Given the description of an element on the screen output the (x, y) to click on. 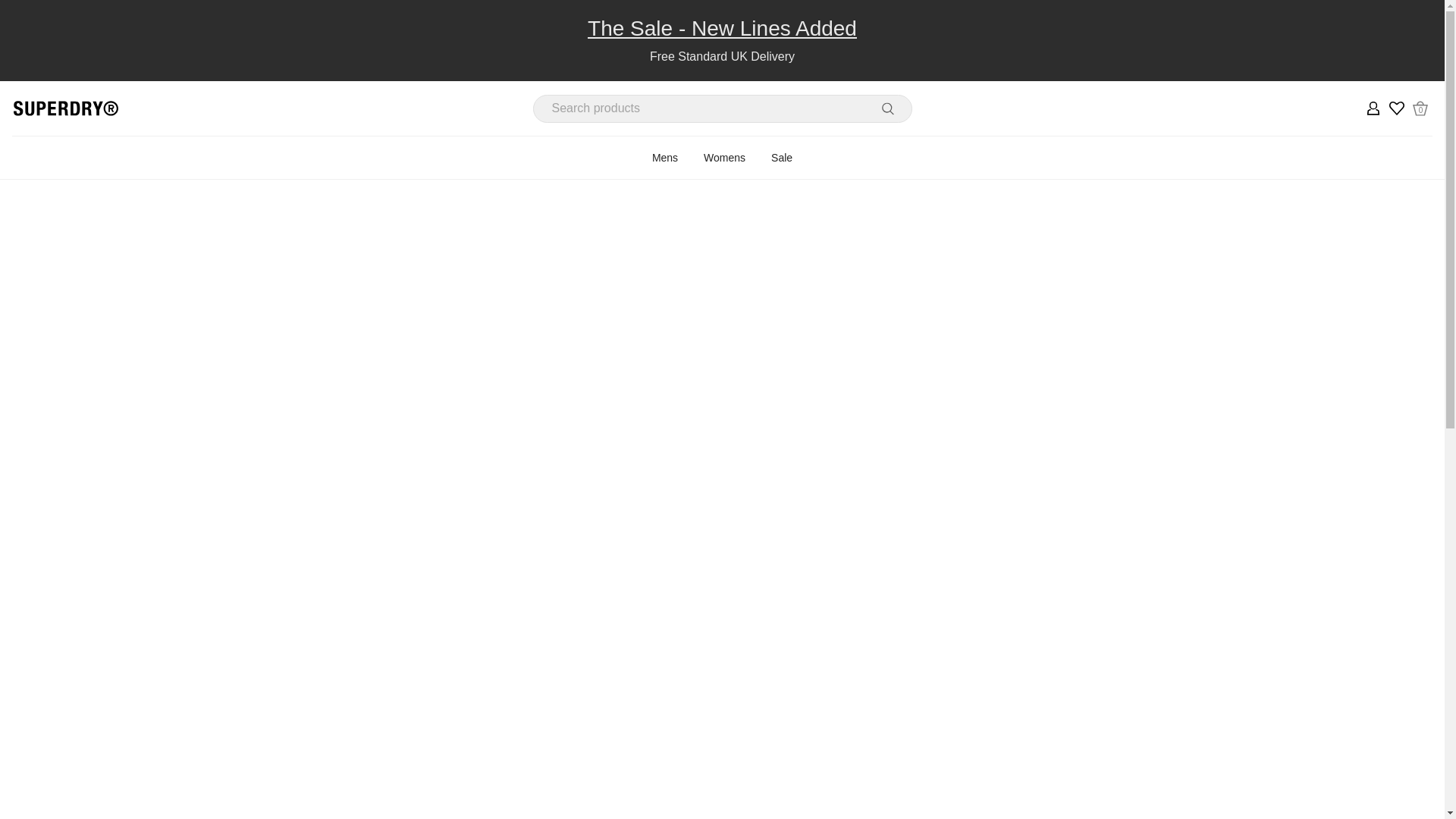
The Sale - New Lines Added (722, 28)
Wish List (1397, 107)
My Account (1372, 107)
Bag (1420, 108)
0 items in your basket (1420, 107)
User (1372, 108)
Reset (1420, 107)
Search (887, 108)
Wish List (886, 108)
